Given the description of an element on the screen output the (x, y) to click on. 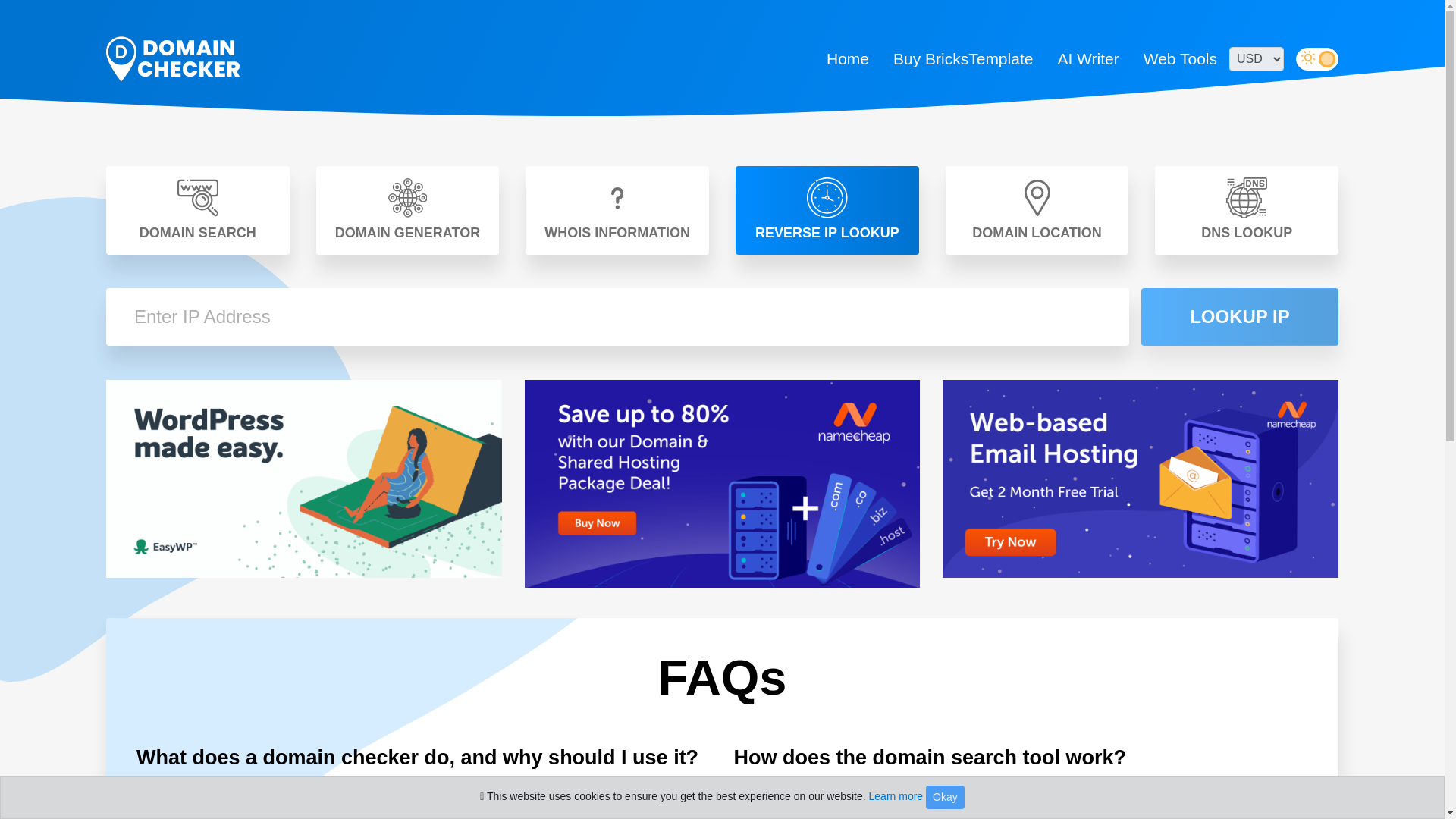
Reverse IP Lookup (173, 58)
Reverse IP Lookup (826, 210)
Web Tools (1179, 58)
Domain Location (1036, 210)
Home (846, 58)
REVERSE IP LOOKUP (826, 210)
DOMAIN GENERATOR (407, 210)
DOMAIN LOCATION (1036, 210)
Learn more (896, 796)
AI Writer (1088, 58)
DNS LOOKUP (1246, 210)
Home (846, 58)
Buy BricksTemplate (962, 58)
Buy BricksTemplate (962, 58)
Web Tools (1179, 58)
